Given the description of an element on the screen output the (x, y) to click on. 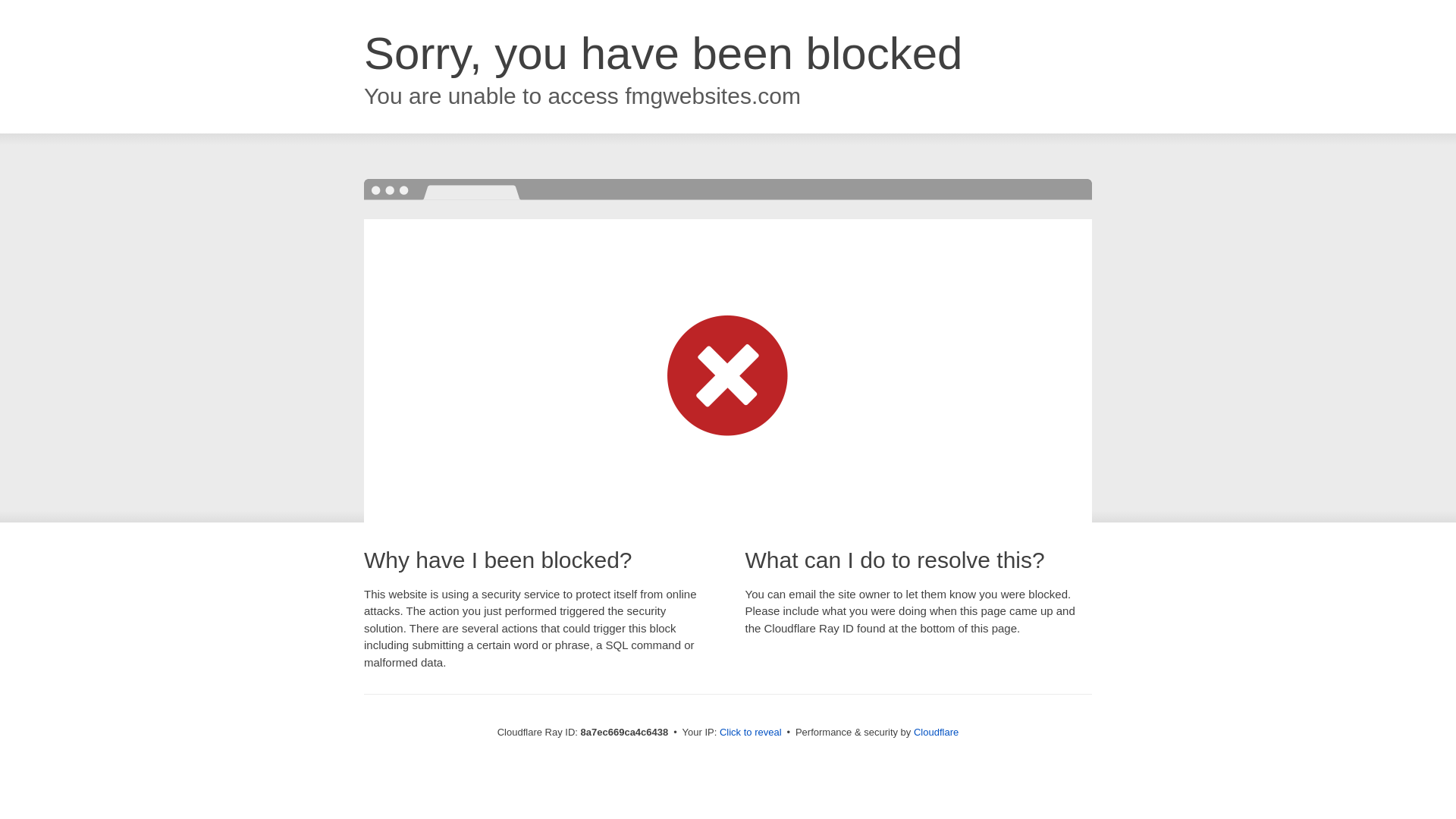
Cloudflare (936, 731)
Click to reveal (750, 732)
